Given the description of an element on the screen output the (x, y) to click on. 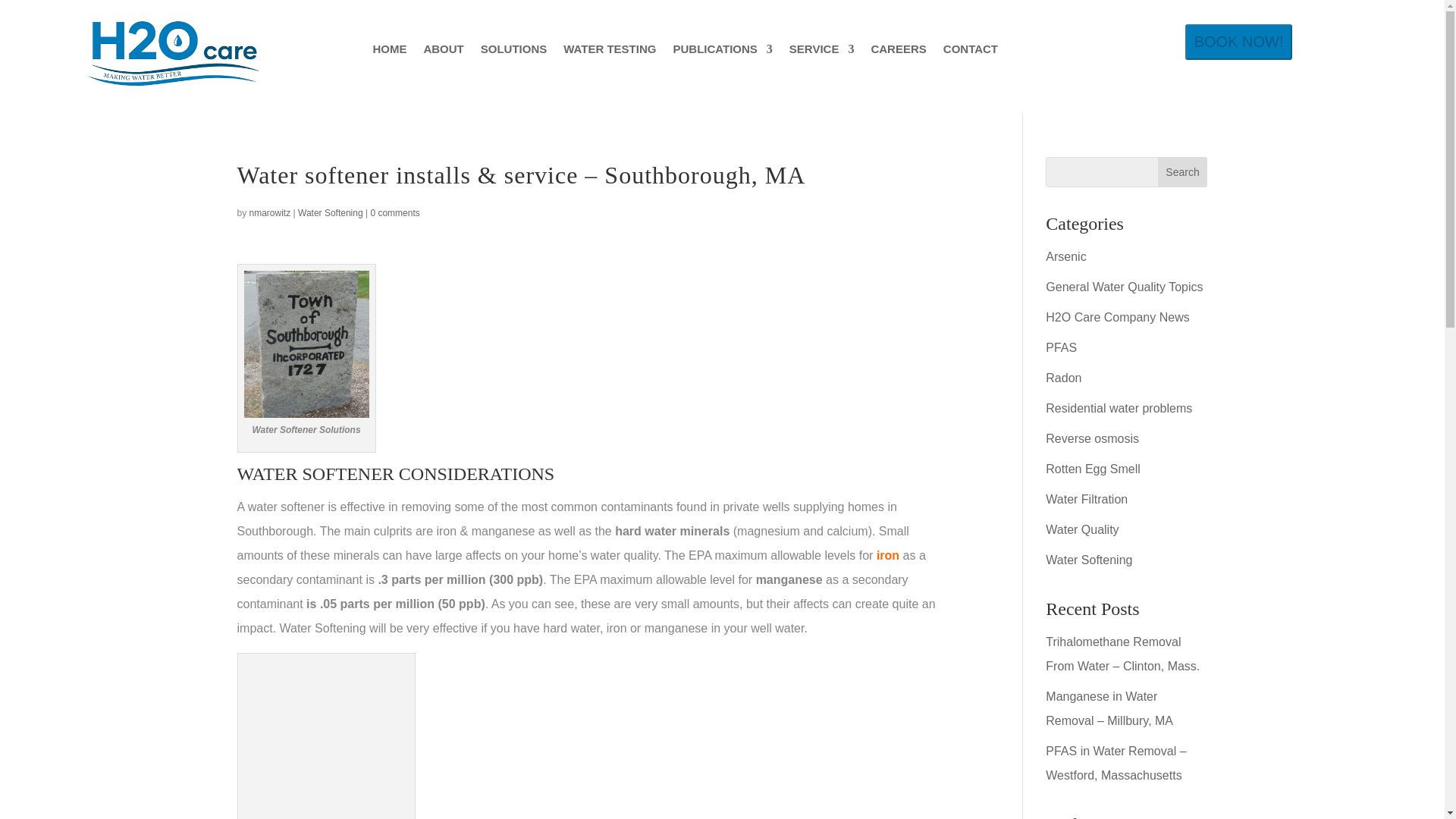
HOME (389, 52)
ABOUT (443, 52)
Search (1182, 172)
Reverse osmosis (1091, 438)
Search (1182, 172)
SOLUTIONS (513, 52)
WATER TESTING (609, 52)
CAREERS (898, 52)
H2o Care Logo 24 (172, 54)
SERVICE (821, 52)
